Given the description of an element on the screen output the (x, y) to click on. 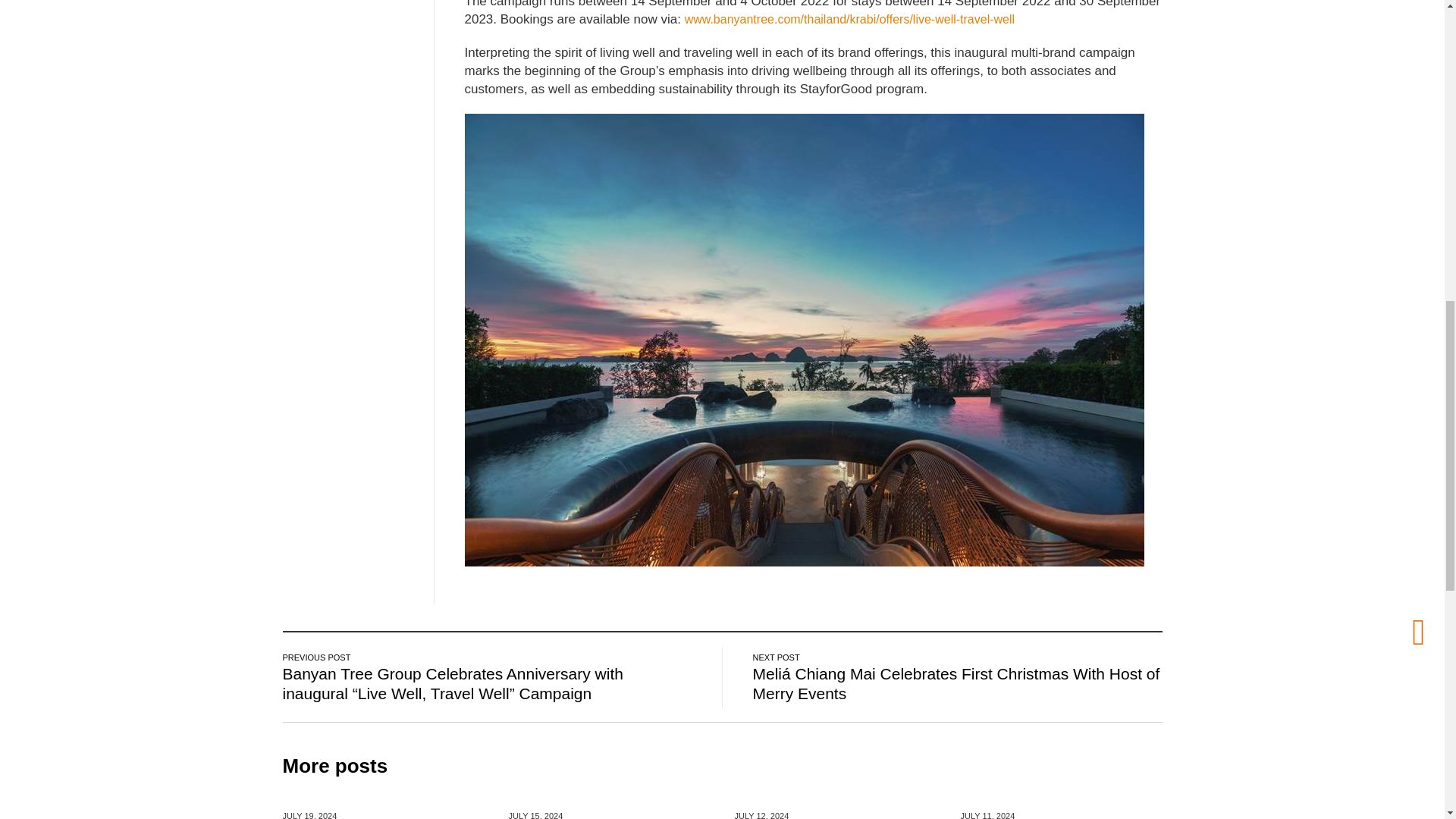
July 12, 2024 (761, 814)
July 11, 2024 (986, 814)
July 15, 2024 (535, 814)
July 19, 2024 (309, 814)
